Given the description of an element on the screen output the (x, y) to click on. 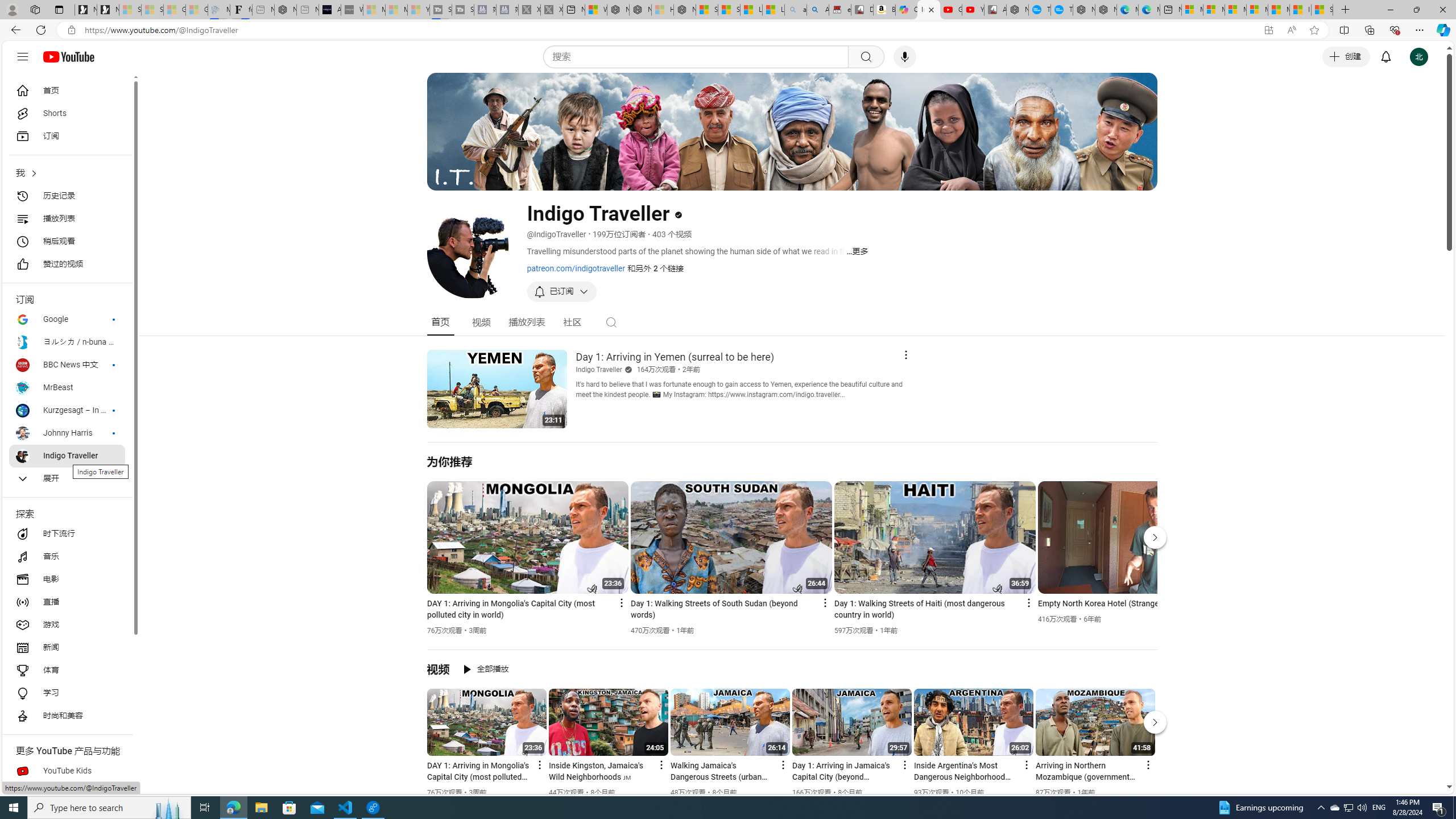
Indigo Traveller - YouTube (928, 9)
MrBeast (66, 387)
